Given the description of an element on the screen output the (x, y) to click on. 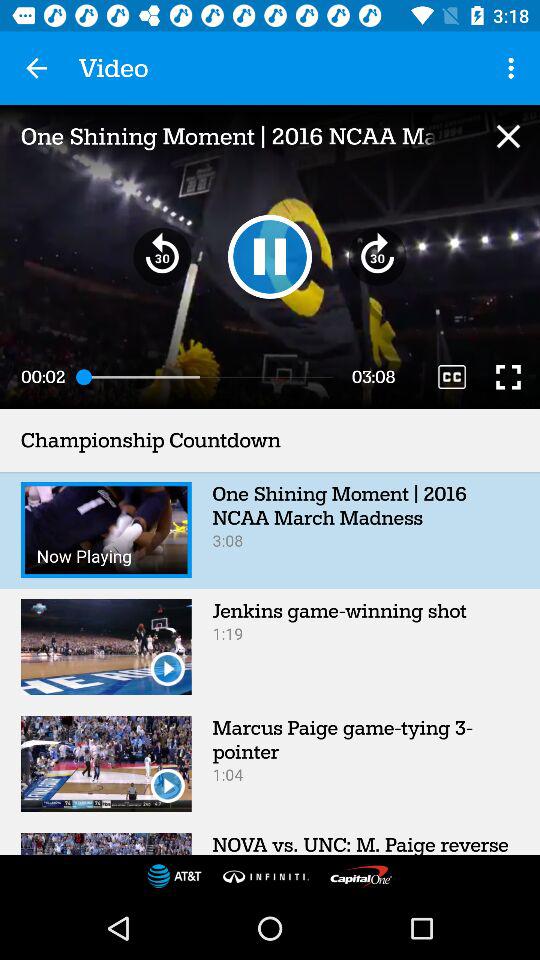
press the item above the championship countdown item (451, 376)
